Given the description of an element on the screen output the (x, y) to click on. 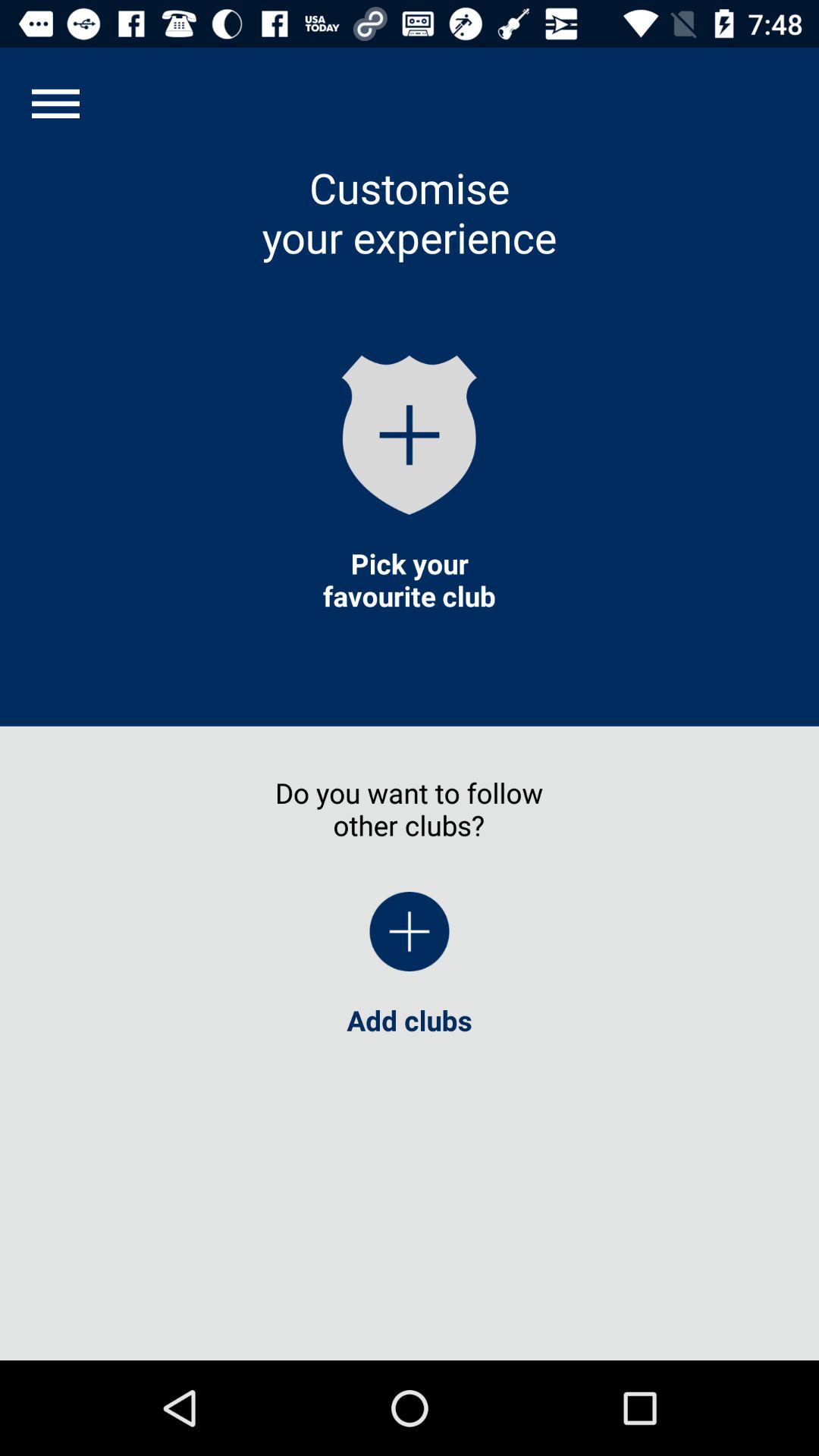
tap icon below the do you want (409, 931)
